Given the description of an element on the screen output the (x, y) to click on. 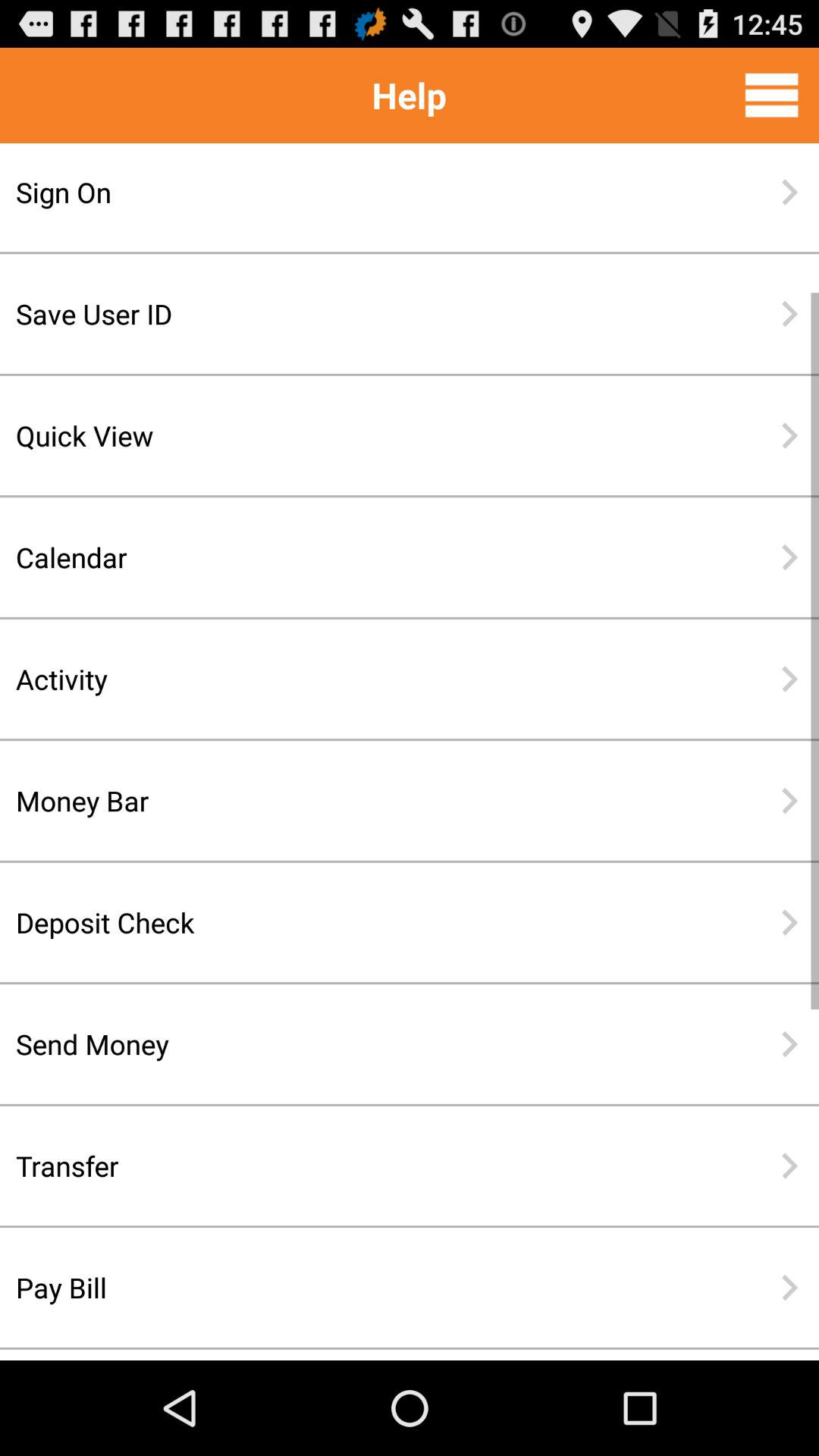
choose the item to the right of the deposit check item (789, 922)
